Given the description of an element on the screen output the (x, y) to click on. 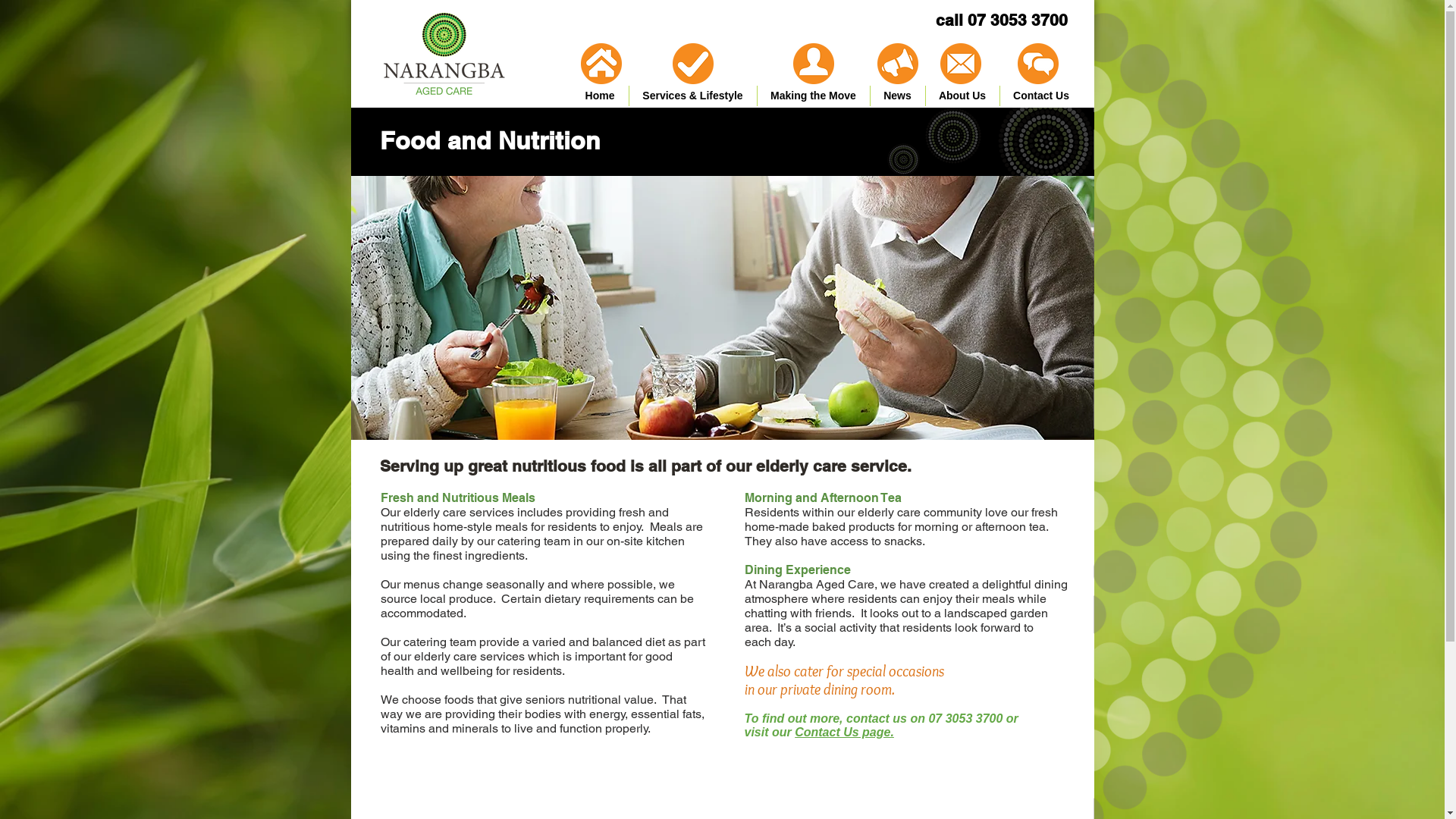
About Us Element type: text (961, 95)
Contact Us page. Element type: text (844, 731)
Home Element type: text (599, 95)
Contact Us Element type: text (1040, 95)
News Element type: text (897, 95)
